Given the description of an element on the screen output the (x, y) to click on. 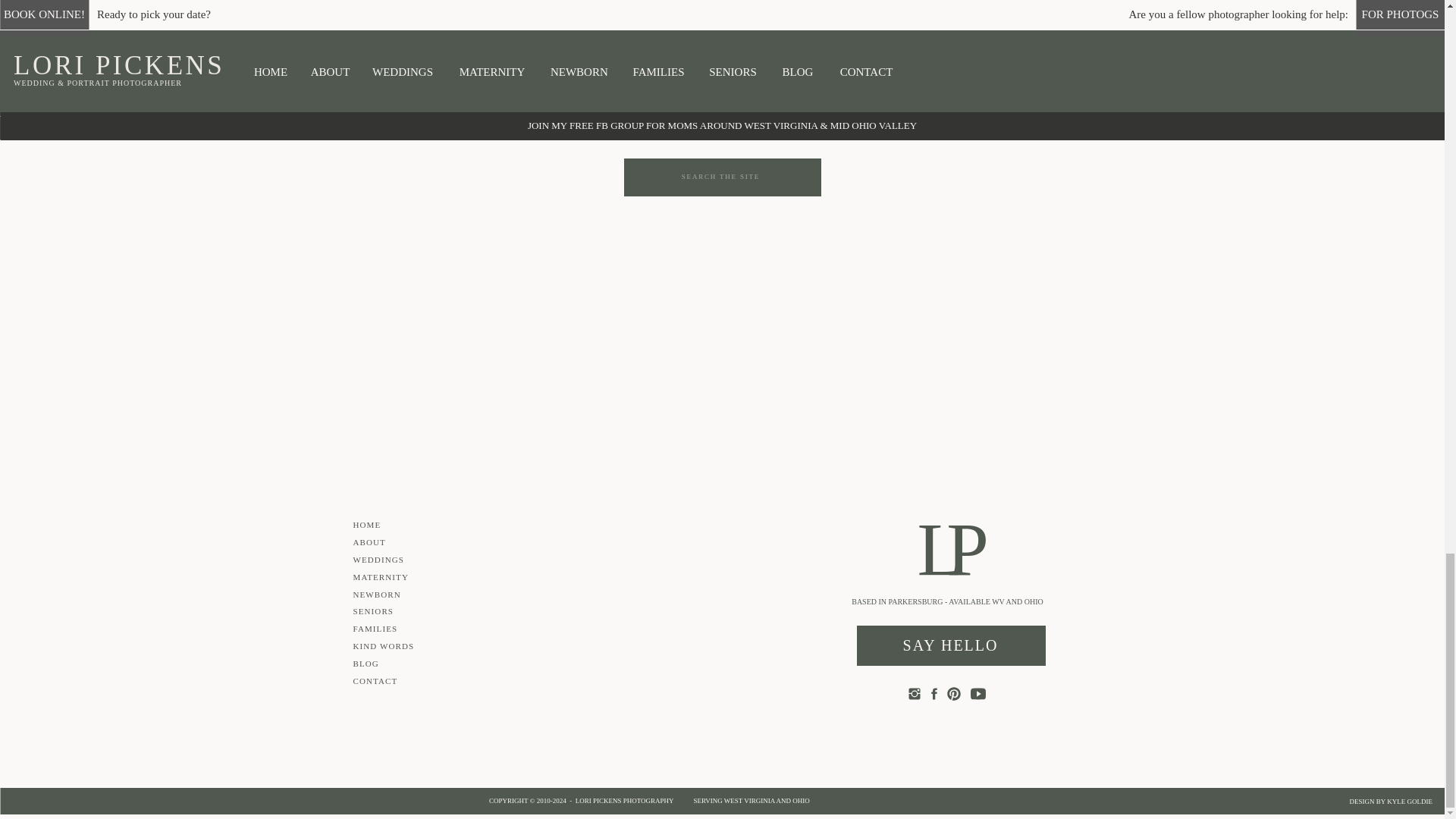
SENIORS (928, 126)
